Given the description of an element on the screen output the (x, y) to click on. 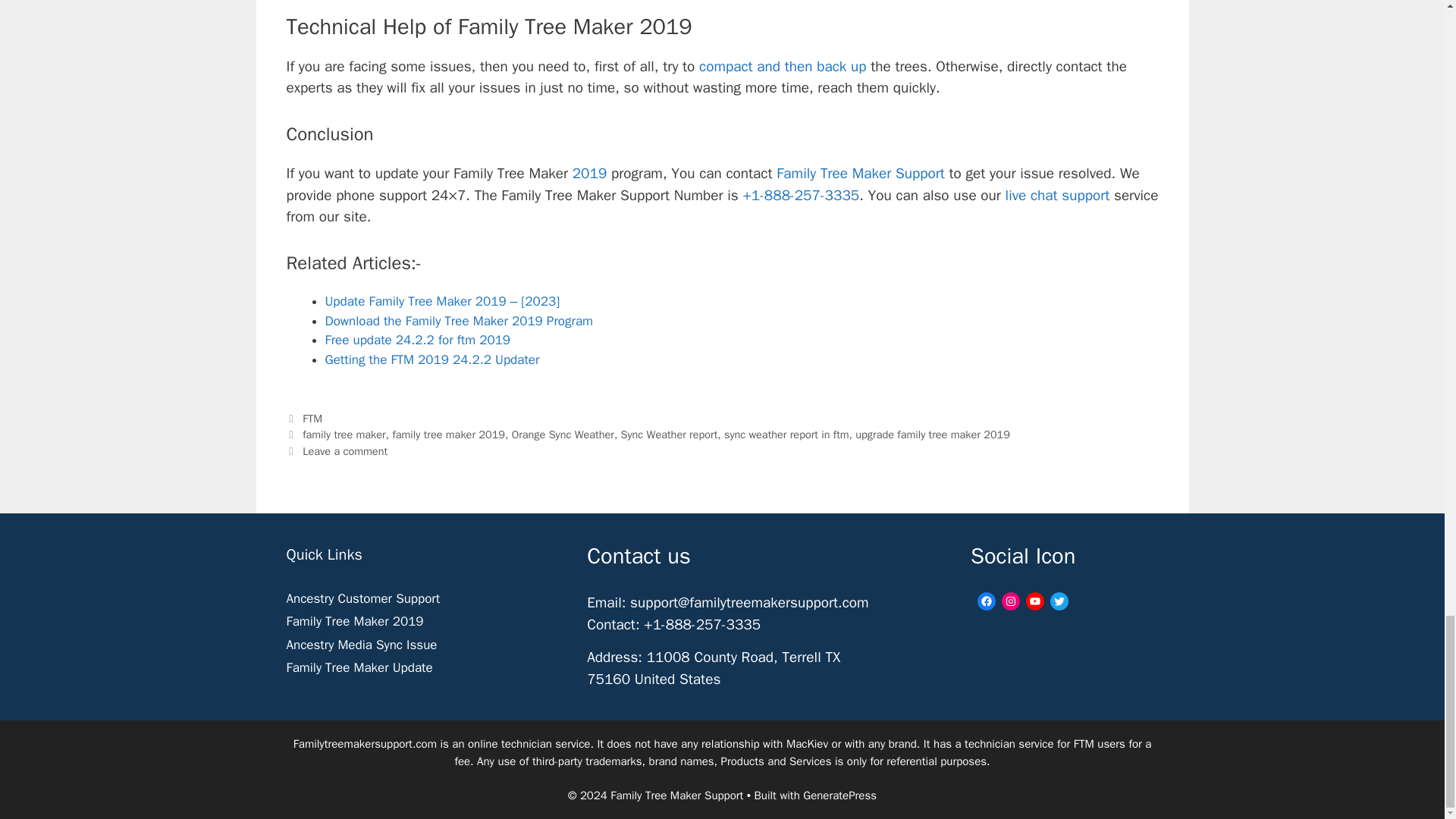
Family Tree Maker Support (860, 173)
FTM (311, 418)
Free update 24.2.2 for ftm 2019 (417, 340)
 2019 (587, 173)
compact and then back up (782, 66)
Getting the FTM 2019 24.2.2 Updater (431, 359)
live chat support (1057, 195)
Download the Family Tree Maker 2019 Program (458, 320)
